Given the description of an element on the screen output the (x, y) to click on. 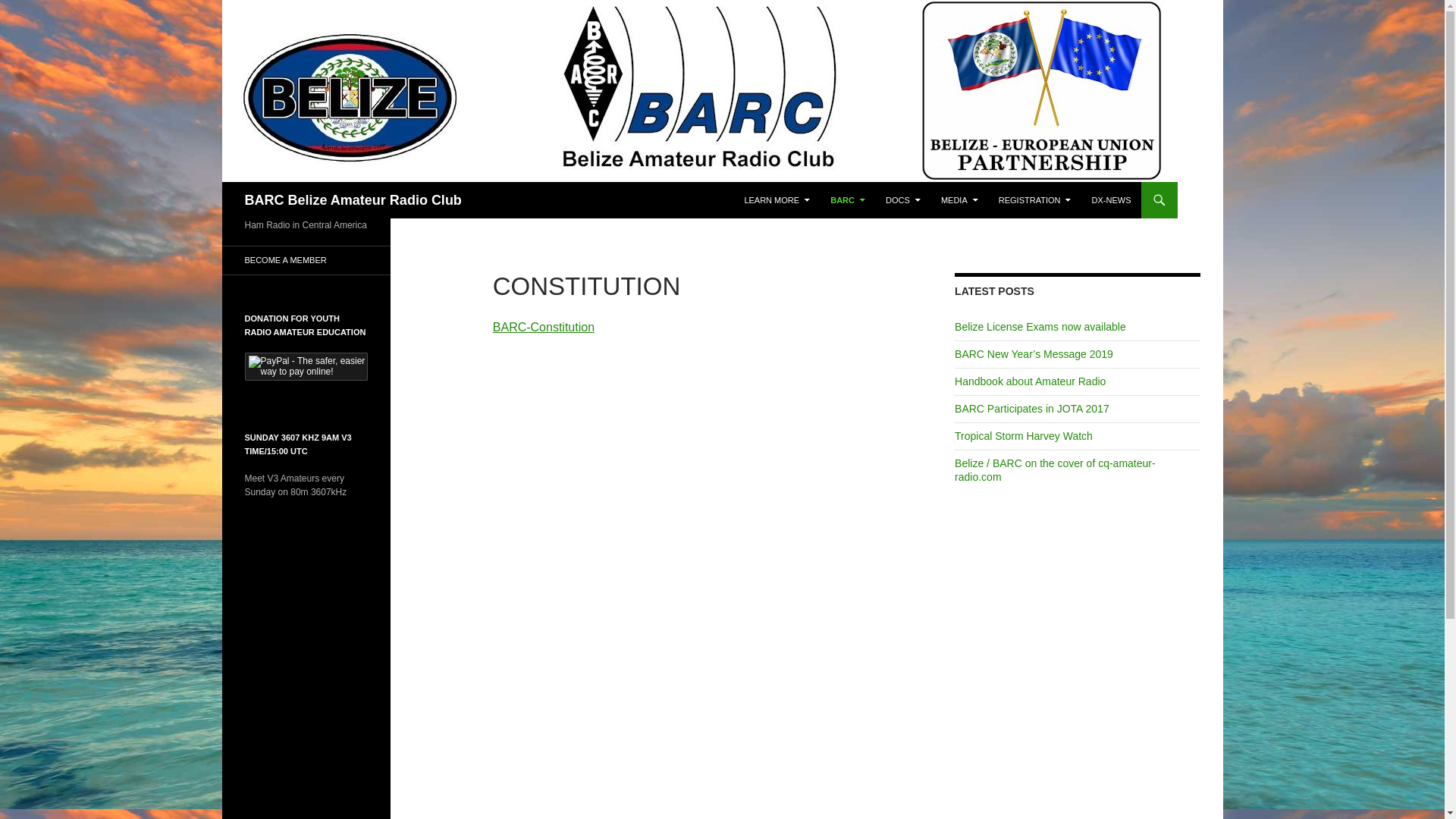
DX-NEWS Element type: text (1111, 200)
BARC Participates in JOTA 2017 Element type: text (1031, 408)
Belize License Exams now available Element type: text (1040, 326)
REGISTRATION Element type: text (1034, 200)
Handbook about Amateur Radio Element type: text (1029, 381)
BECOME A MEMBER Element type: text (305, 260)
MEDIA Element type: text (959, 200)
SKIP TO CONTENT Element type: text (743, 181)
Tropical Storm Harvey Watch Element type: text (1023, 435)
DOCS Element type: text (902, 200)
BARC Element type: text (847, 200)
BARC-Constitution Element type: text (543, 326)
Search Element type: text (224, 181)
BARC Belize Amateur Radio Club Element type: text (352, 200)
Belize / BARC on the cover of cq-amateur-radio.com Element type: text (1054, 470)
LEARN MORE Element type: text (776, 200)
